Given the description of an element on the screen output the (x, y) to click on. 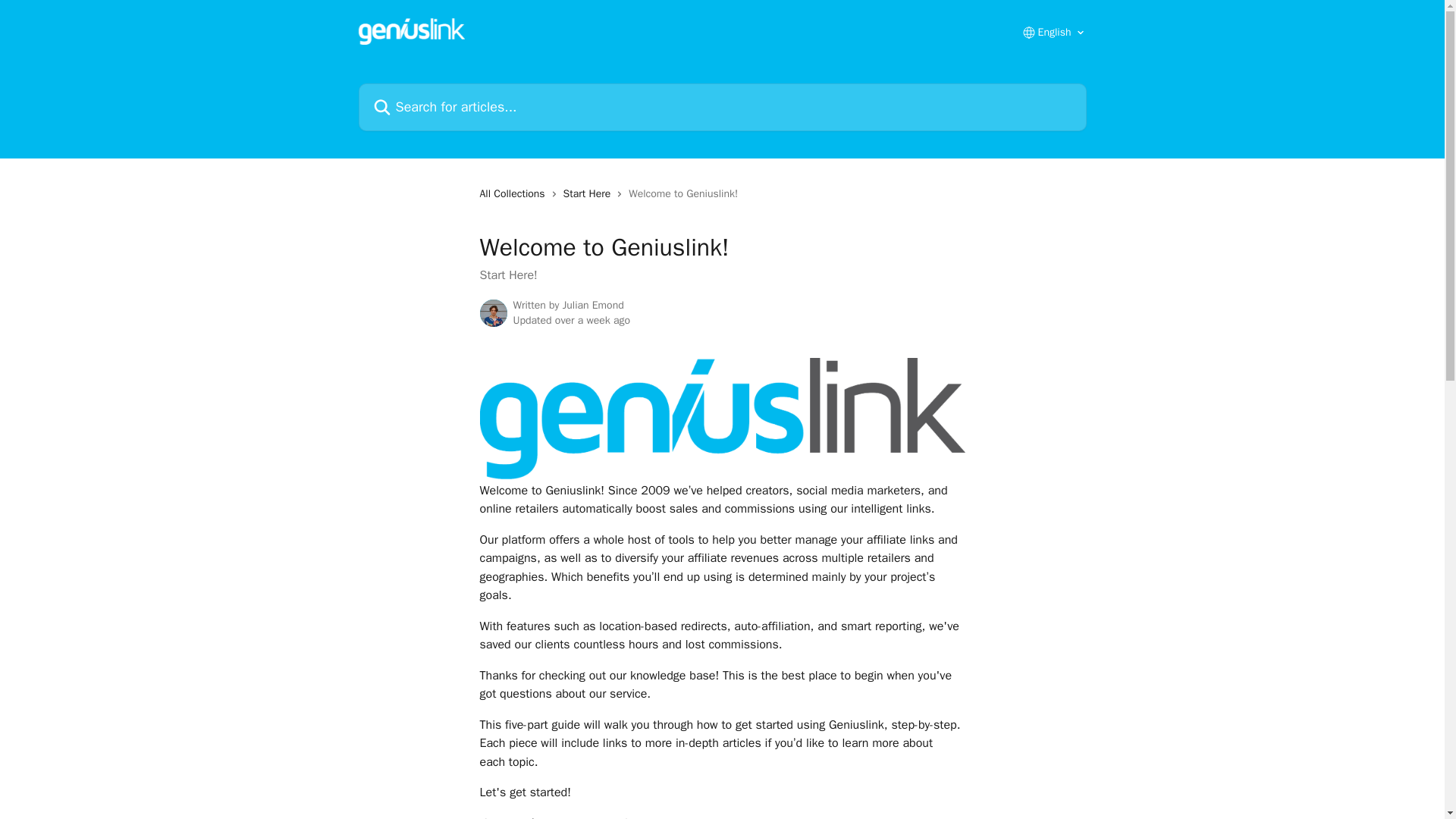
sign up here (807, 817)
All Collections (514, 193)
Start Here (590, 193)
